Given the description of an element on the screen output the (x, y) to click on. 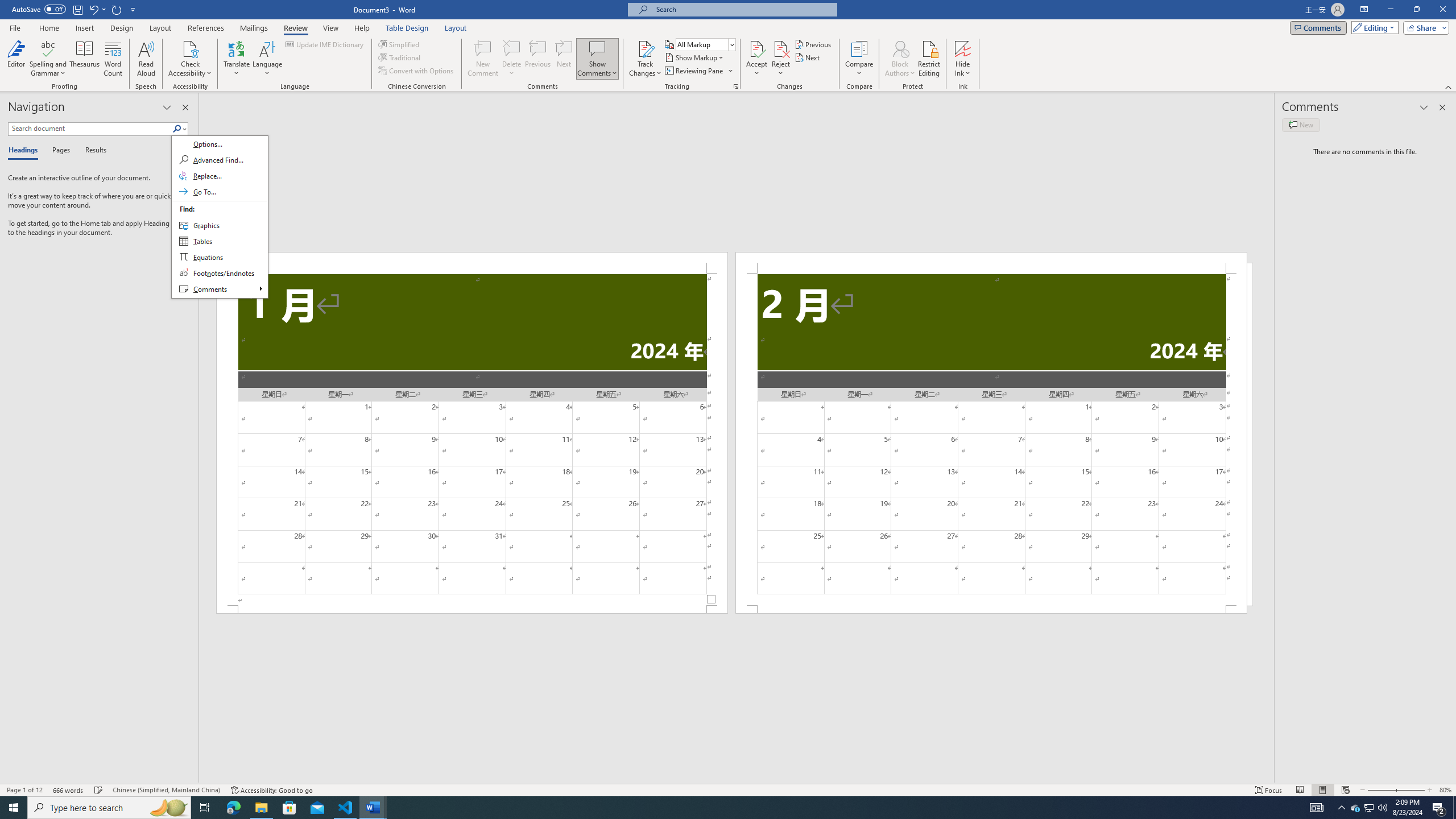
Header -Section 2- (991, 263)
Delete (511, 58)
Update IME Dictionary... (324, 44)
Word Count 666 words (68, 790)
Spelling and Grammar (48, 48)
Simplified (400, 44)
